Given the description of an element on the screen output the (x, y) to click on. 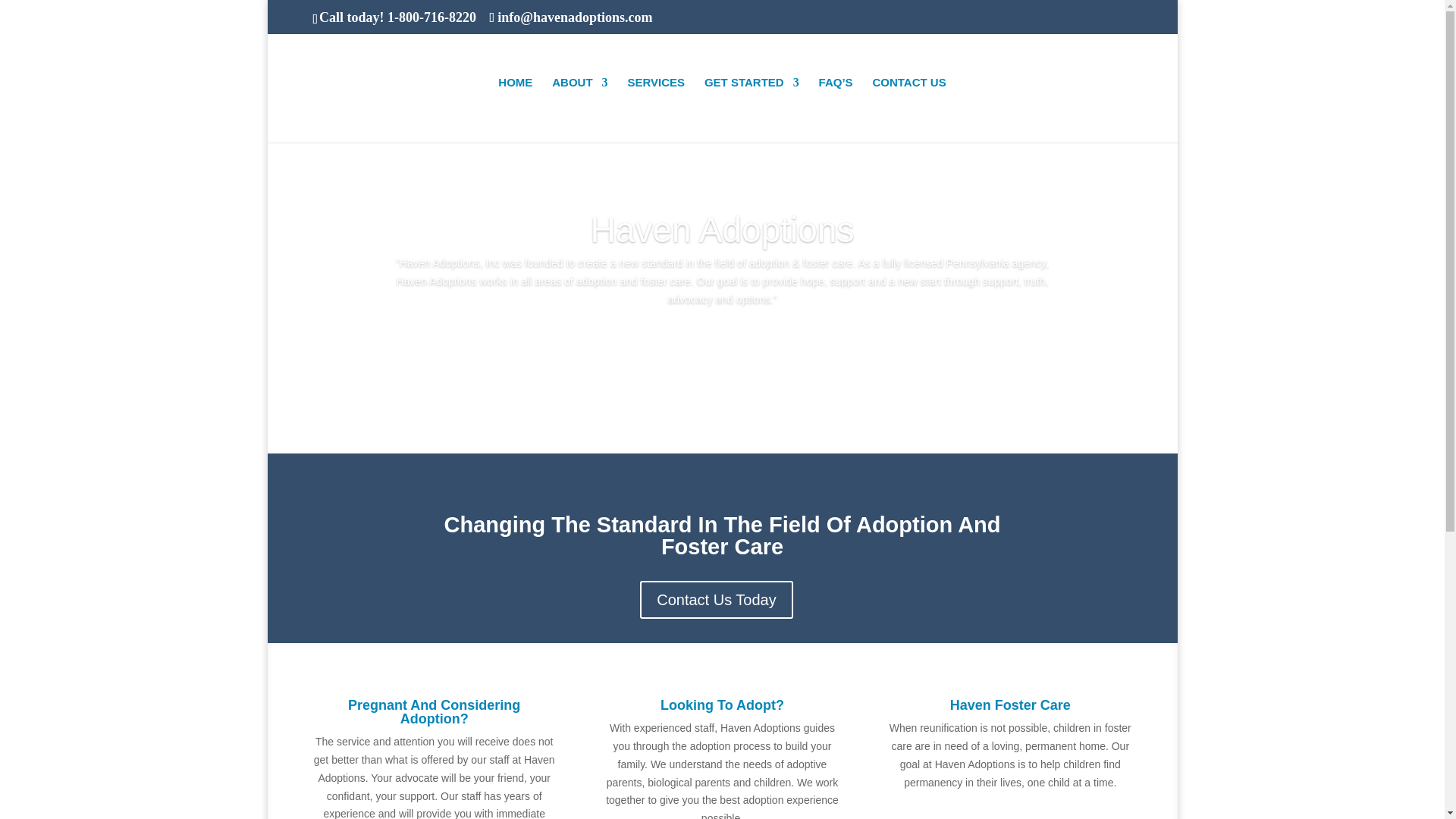
Haven Foster Care (1010, 704)
Pregnant And Considering Adoption? (433, 711)
CONTACT US (908, 109)
Contact Us Today (716, 599)
GET STARTED (751, 109)
Looking To Adopt? (722, 704)
